Given the description of an element on the screen output the (x, y) to click on. 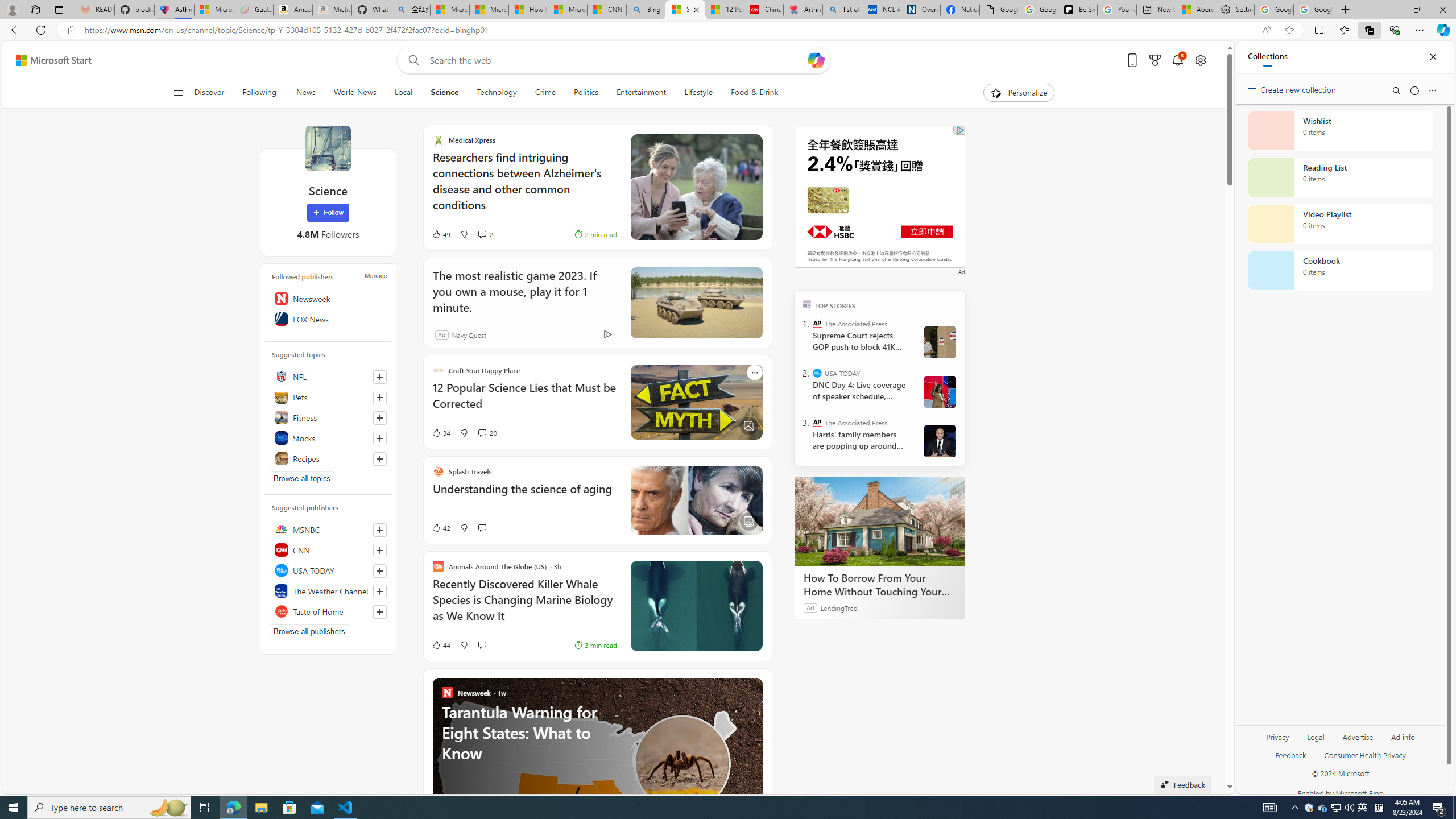
View comments 20 Comment (481, 432)
Politics (585, 92)
